Given the description of an element on the screen output the (x, y) to click on. 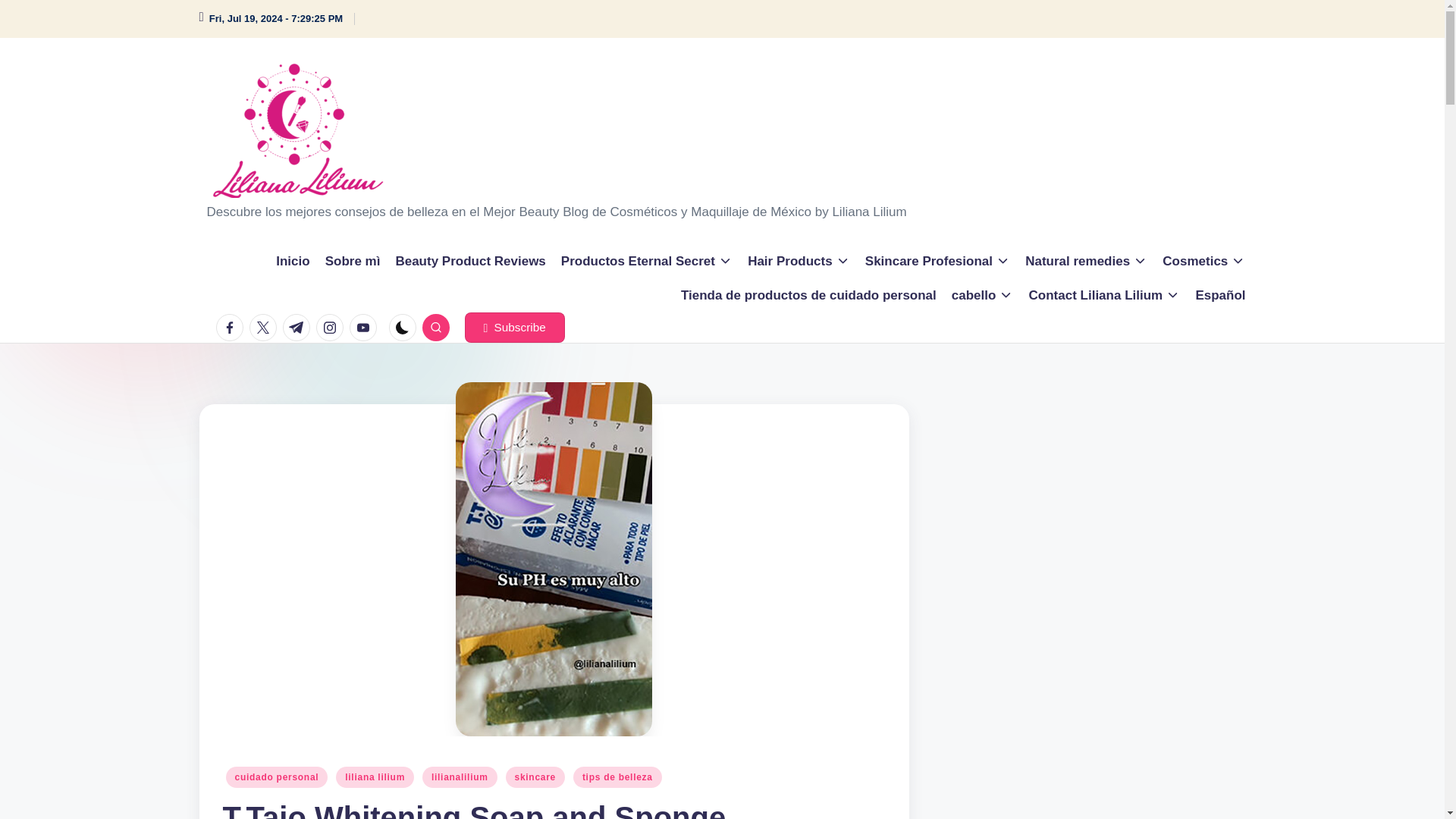
cabello (982, 294)
Tienda de productos de cuidado personal (808, 294)
Inicio (292, 261)
Skincare Profesional (937, 261)
Hair Products (799, 261)
Cosmetics (1202, 261)
Natural remedies (1086, 261)
Beauty Product Reviews (469, 261)
Productos Eternal Secret (646, 261)
